Given the description of an element on the screen output the (x, y) to click on. 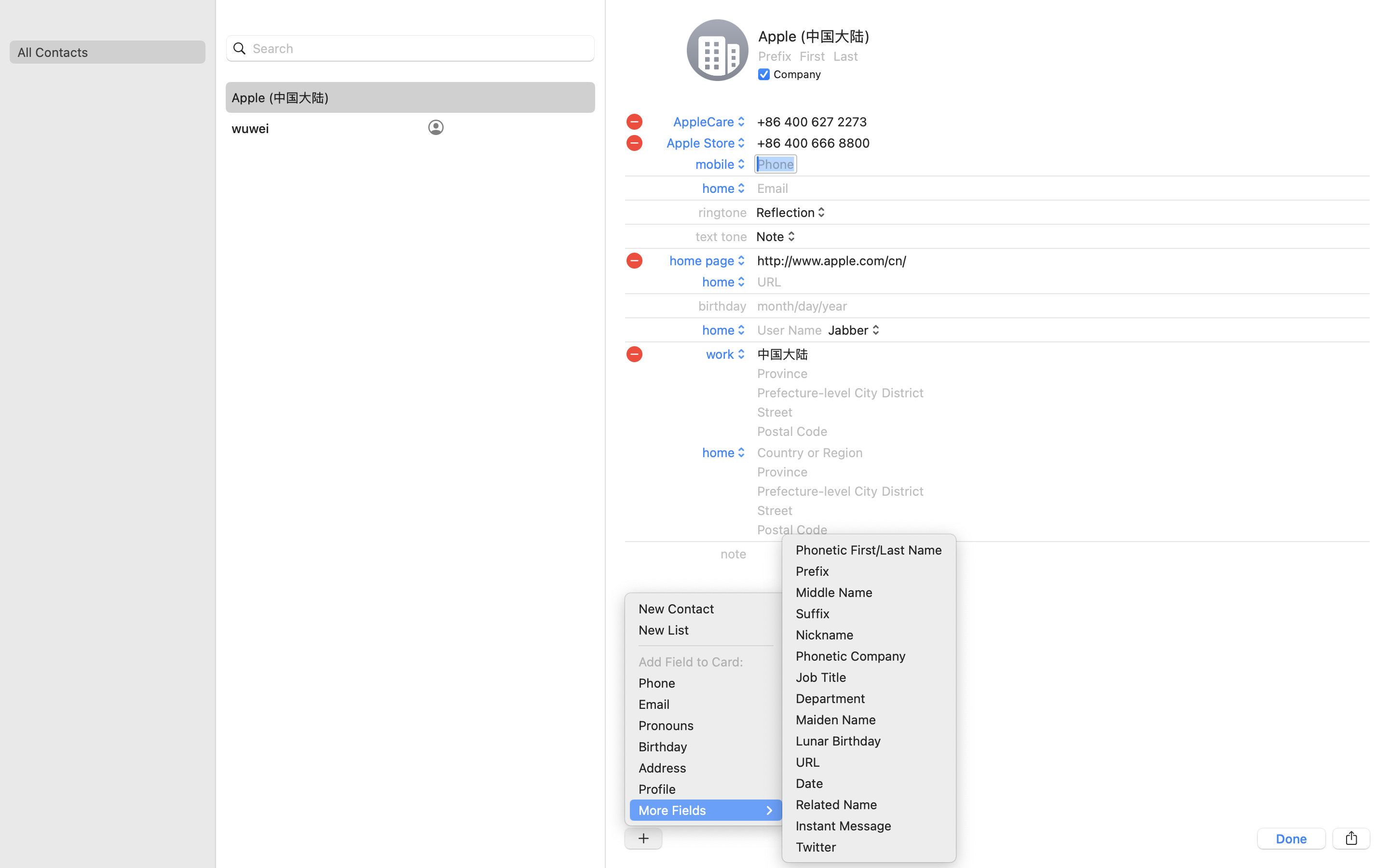
wuwei Element type: AXStaticText (250, 127)
Apple (中国大陆) Element type: AXTextField (813, 36)
